Given the description of an element on the screen output the (x, y) to click on. 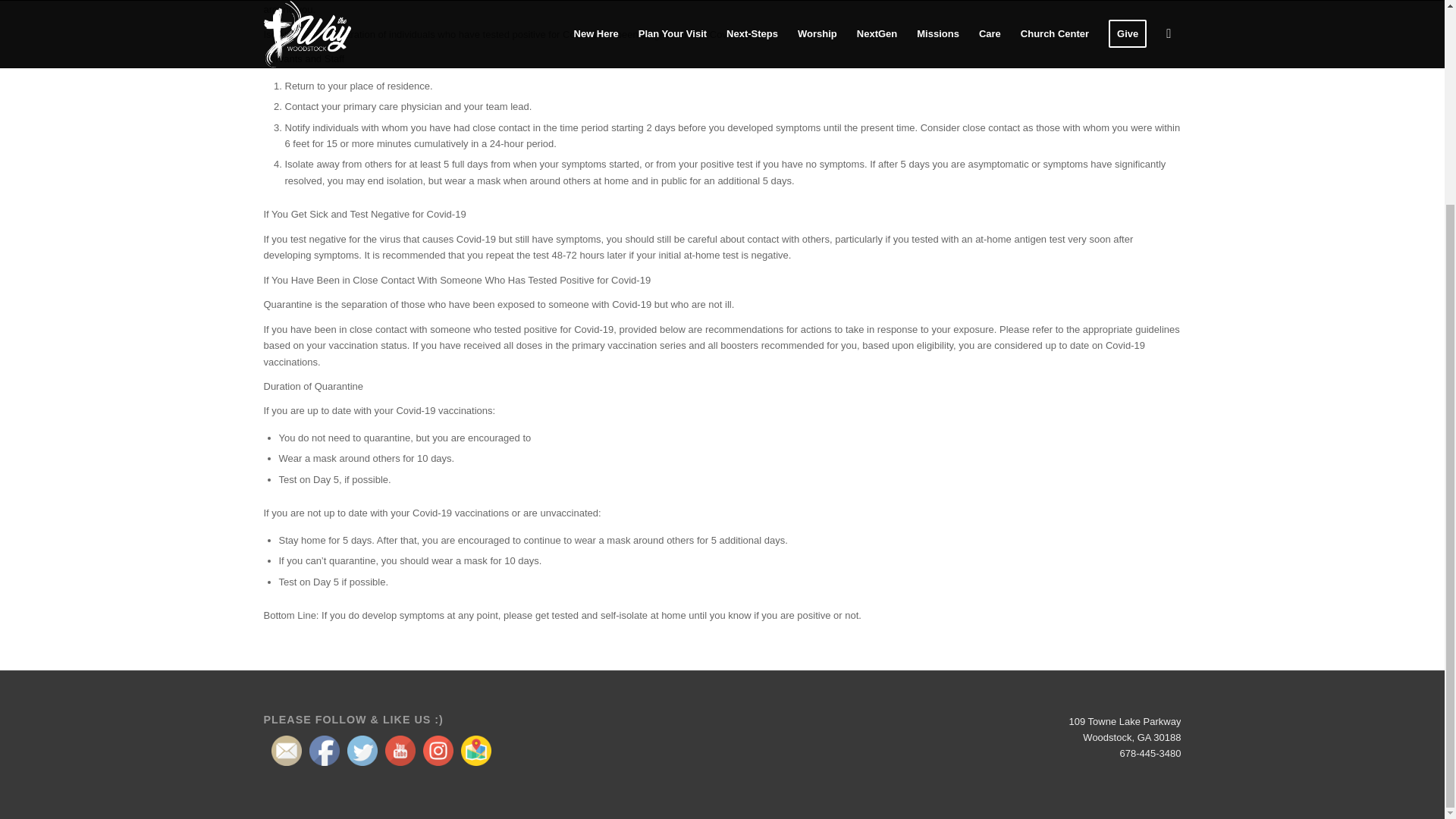
Check us out on Facebook! (323, 750)
Find Us! (476, 750)
Watch us on Youtube! (399, 750)
Email Us! (285, 750)
See us on Instagram! (437, 750)
Visit us on Twitter! (362, 750)
